Given the description of an element on the screen output the (x, y) to click on. 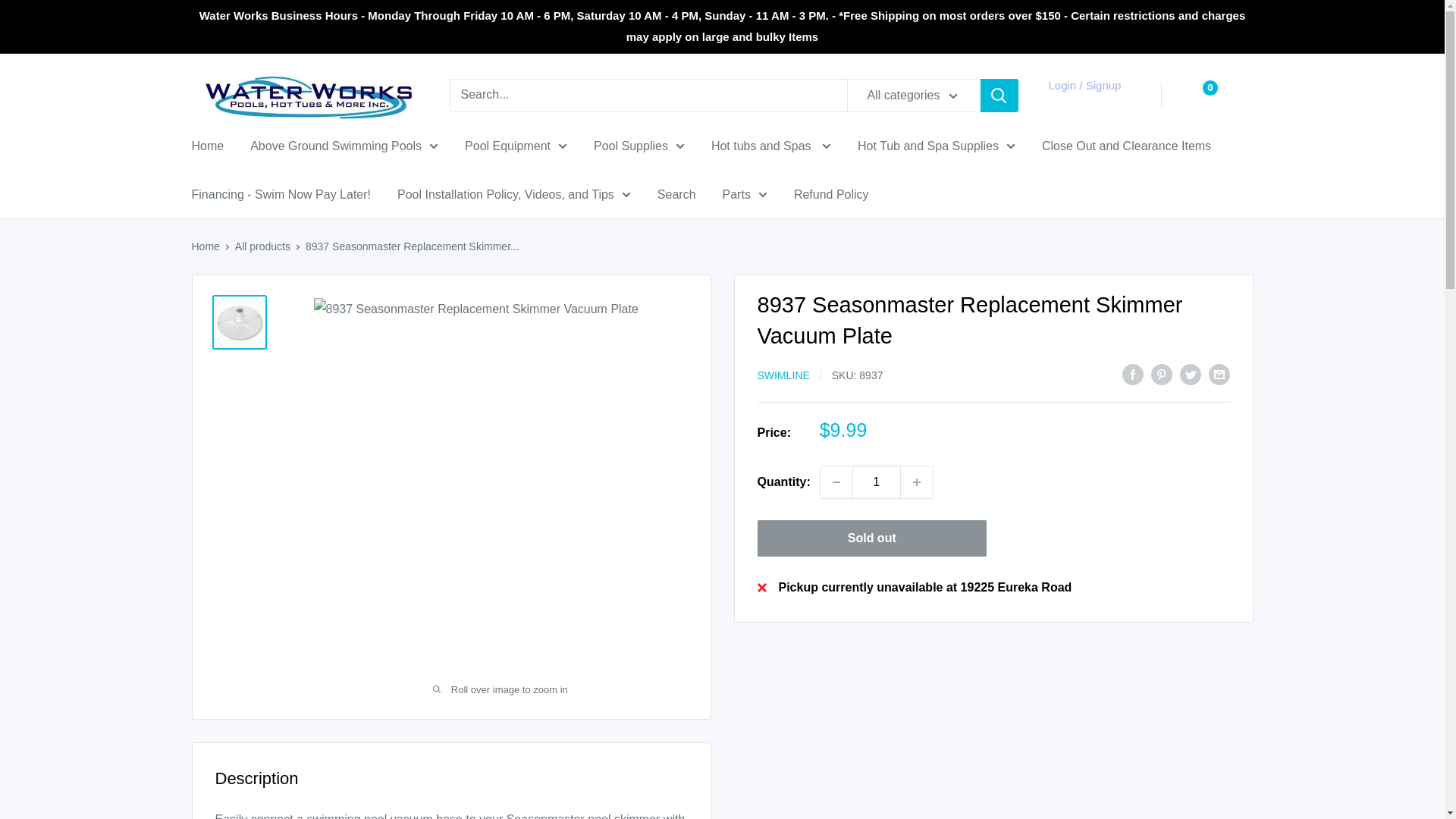
1 (876, 481)
Decrease quantity by 1 (836, 481)
Increase quantity by 1 (917, 481)
